Given the description of an element on the screen output the (x, y) to click on. 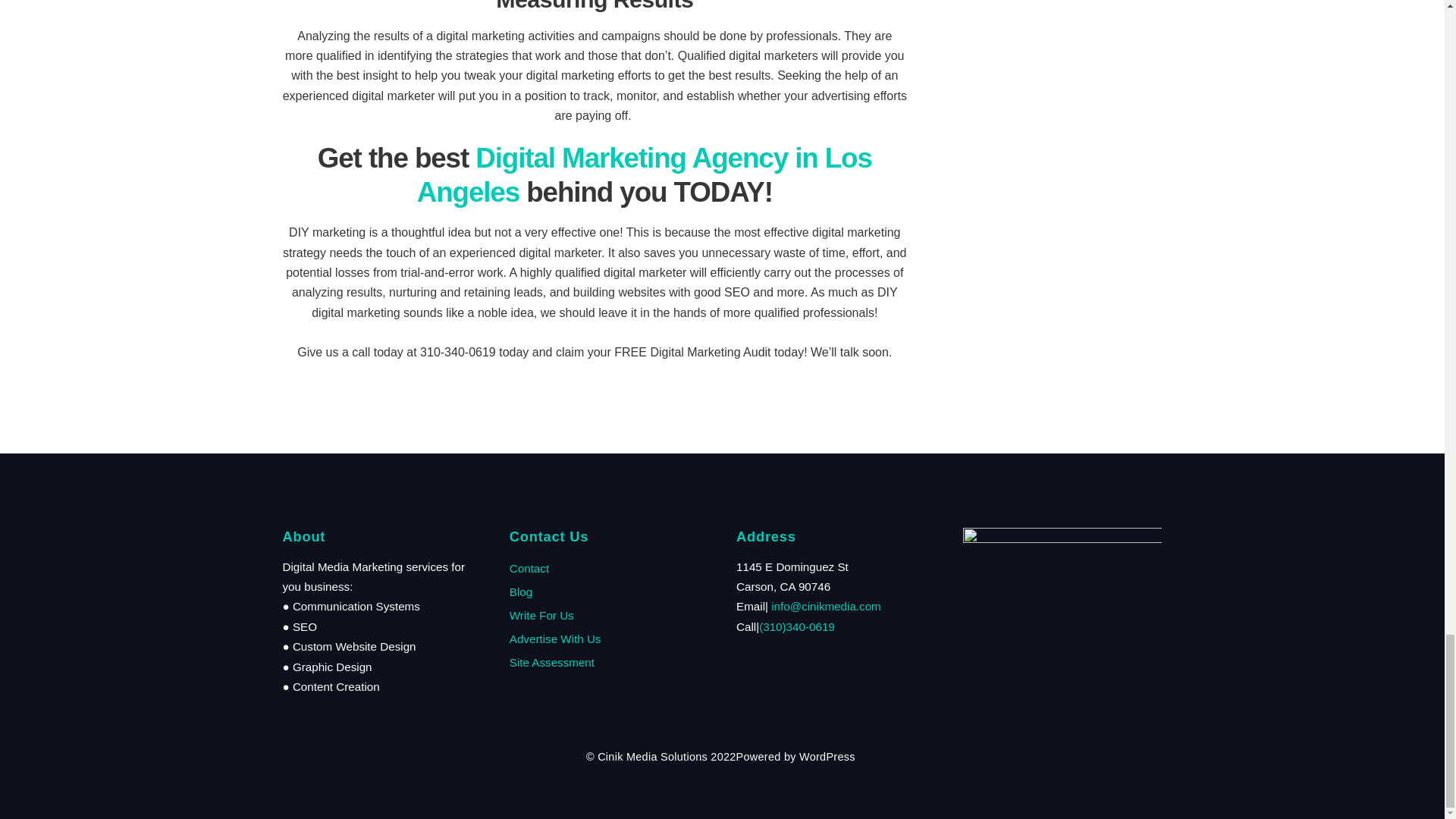
Site Assessment (551, 662)
Contact (528, 567)
Digital Marketing Agency in Los Angeles (644, 174)
Blog (520, 591)
Write For Us (541, 615)
Advertise With Us (555, 638)
